Given the description of an element on the screen output the (x, y) to click on. 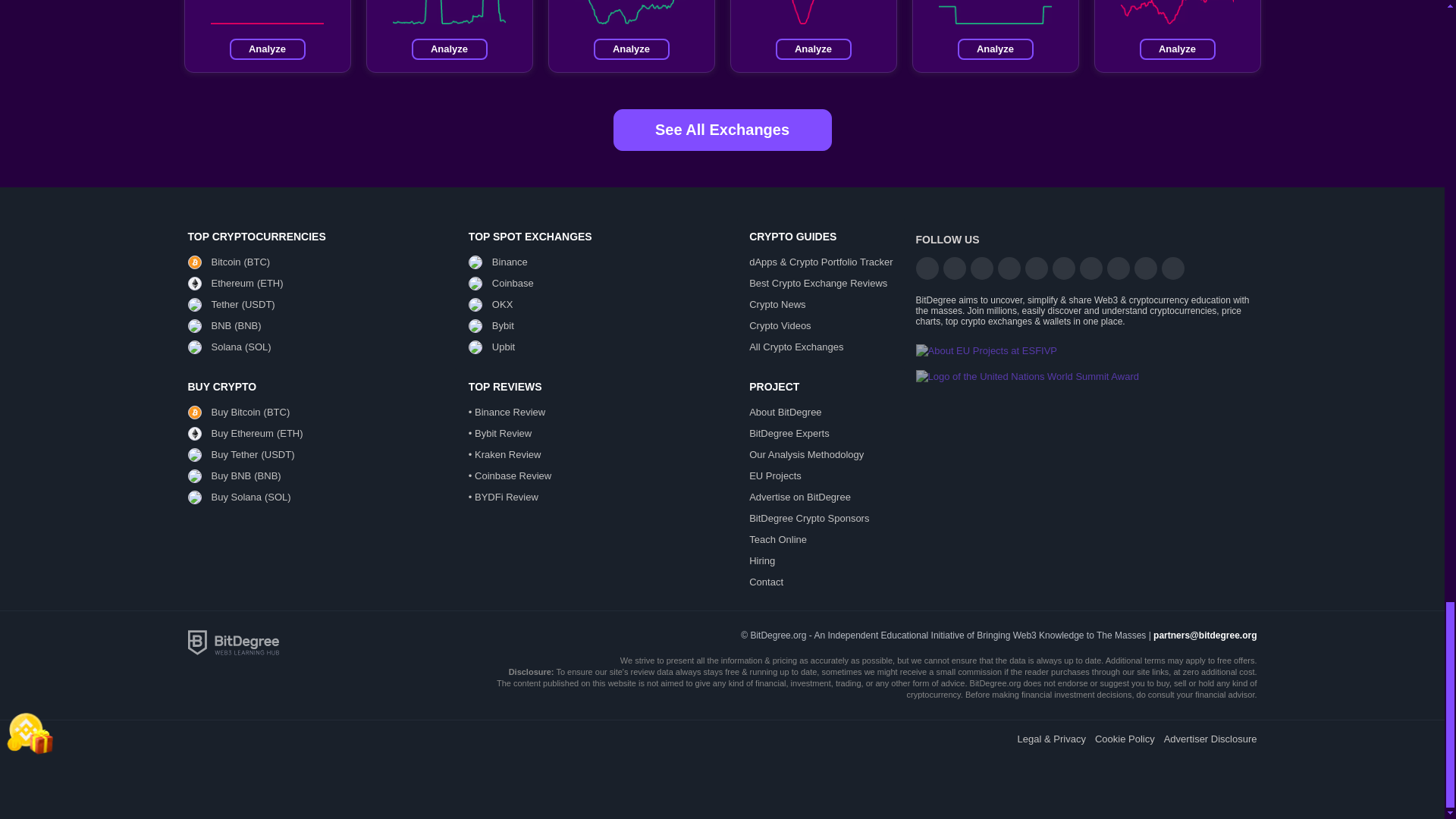
BitcoinTrade 7 days volume chart (267, 12)
digitalexchange.id 7 days volume chart (995, 12)
Bitay 7 days volume chart (1177, 12)
Bitcoin logo (194, 262)
Cat.Ex 7 days volume chart (631, 12)
GOPAX 7 days volume chart (449, 12)
BankCEX 7 days volume chart (813, 12)
